Given the description of an element on the screen output the (x, y) to click on. 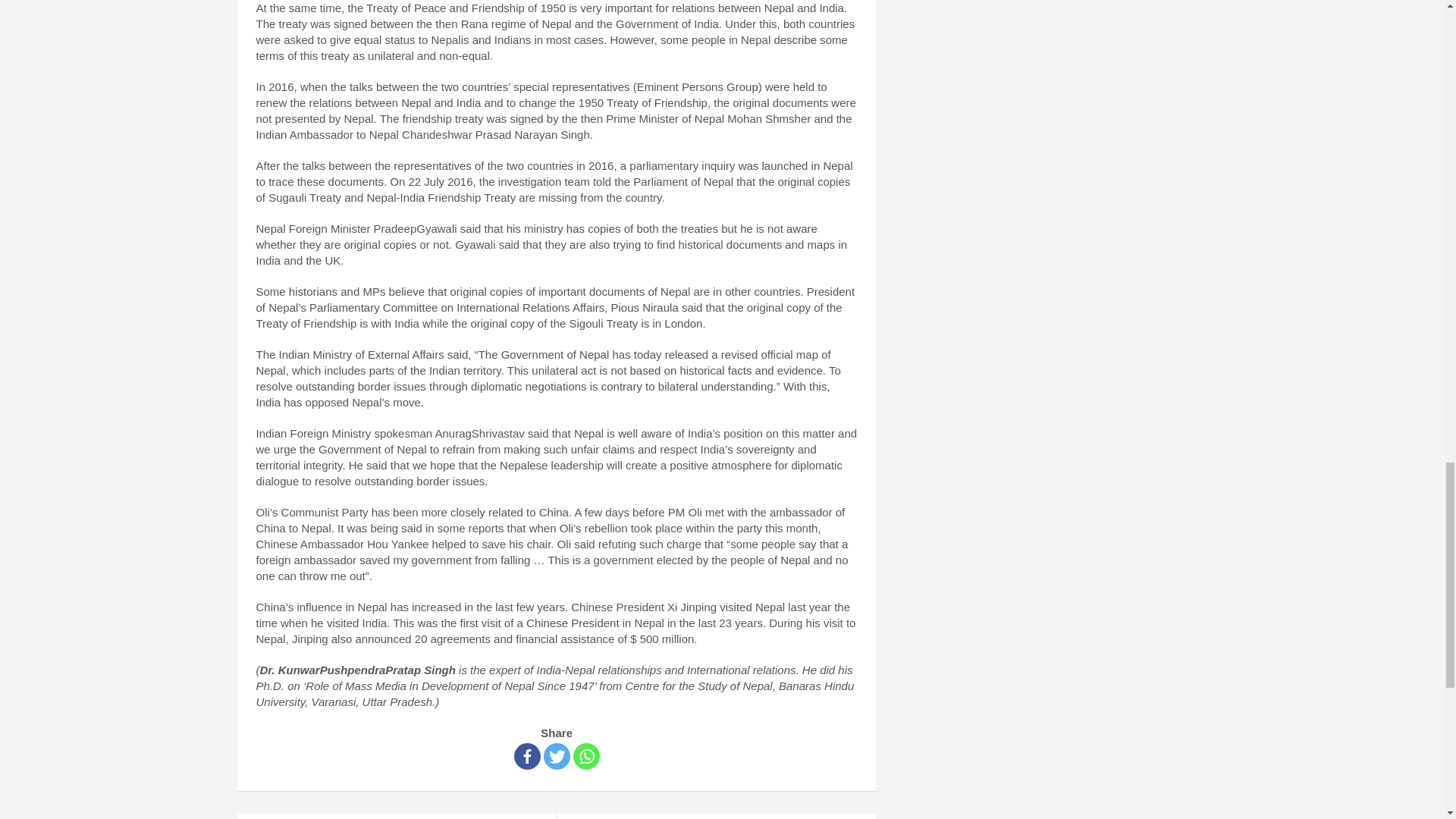
Whatsapp (586, 755)
Twitter (556, 755)
Facebook (526, 755)
BELLIGERENT CHINA (716, 816)
